Given the description of an element on the screen output the (x, y) to click on. 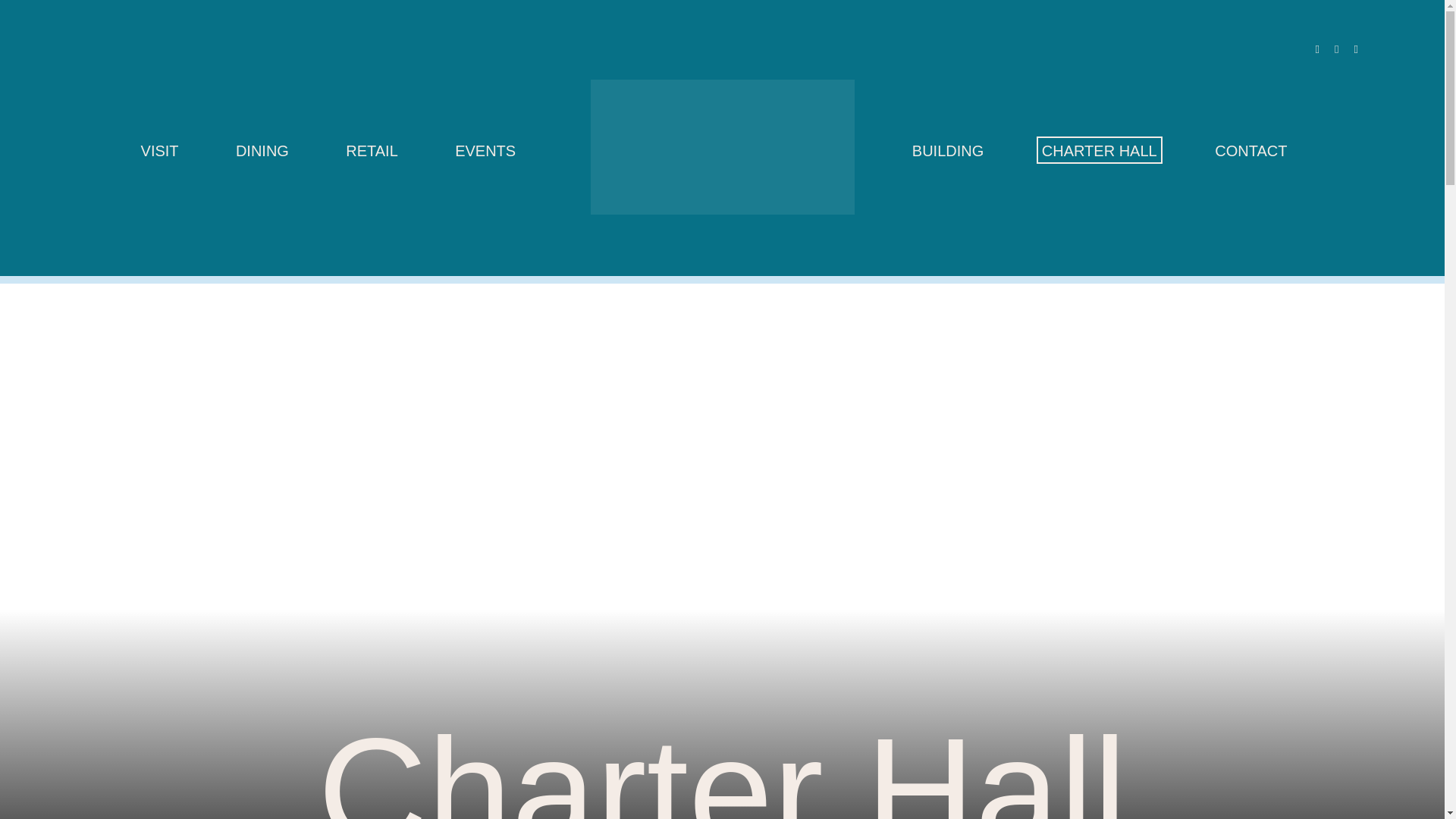
Roanoke Riverstone (721, 146)
BUILDING (948, 153)
CHARTER HALL (1099, 153)
EVENTS (484, 153)
VISIT (160, 153)
CONTACT (1250, 153)
DINING (261, 153)
RETAIL (371, 153)
